Given the description of an element on the screen output the (x, y) to click on. 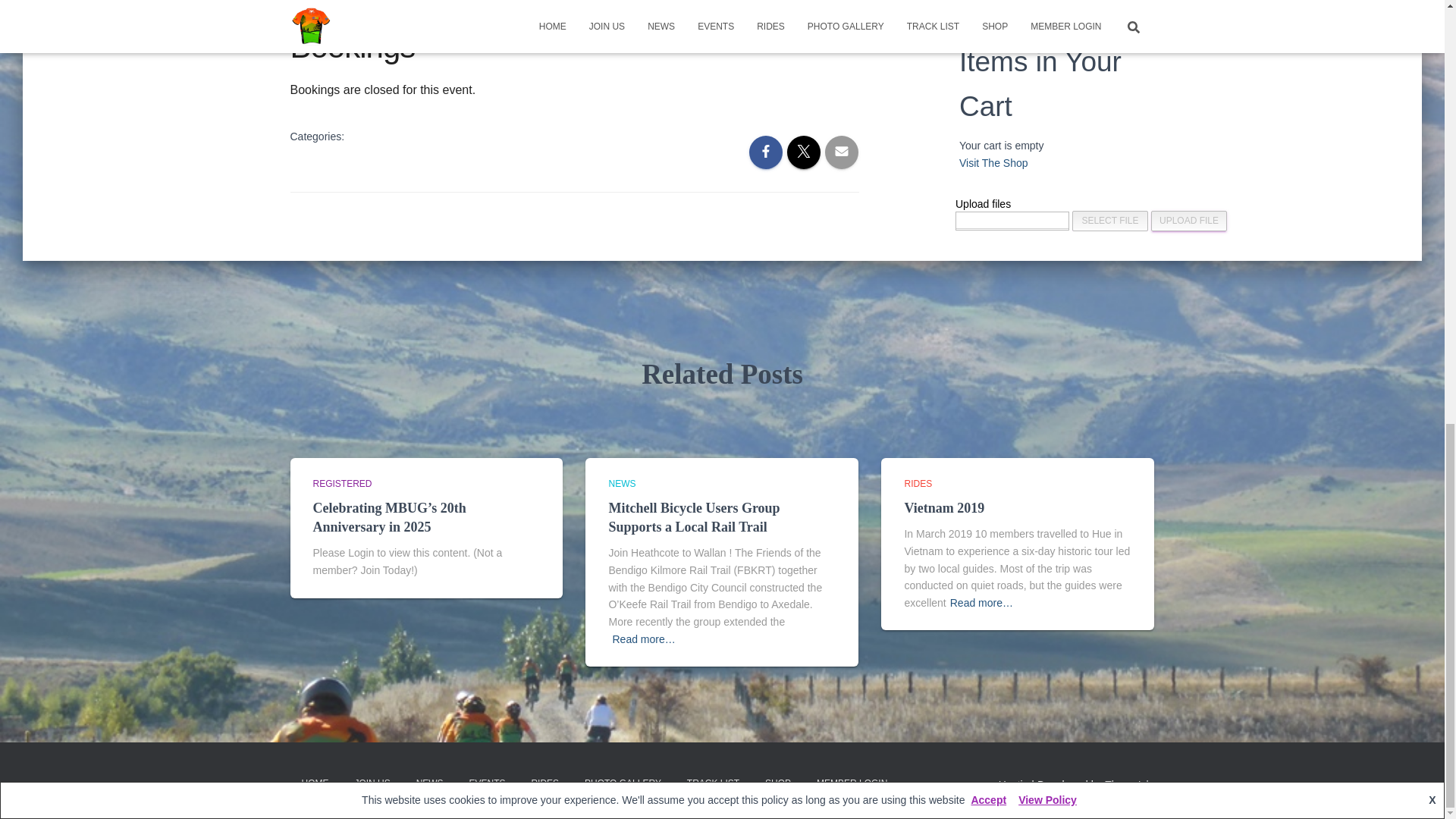
Upload File (1189, 220)
Mitchell Bicycle Users Group Supports a Local Rail Trail (693, 517)
RIDES (917, 483)
NEWS (621, 483)
Shopping Cart (979, 9)
Select File (1109, 220)
Visit The Shop (993, 162)
REGISTERED (342, 483)
Wallan: An Arkells Lane loop (581, 3)
